Given the description of an element on the screen output the (x, y) to click on. 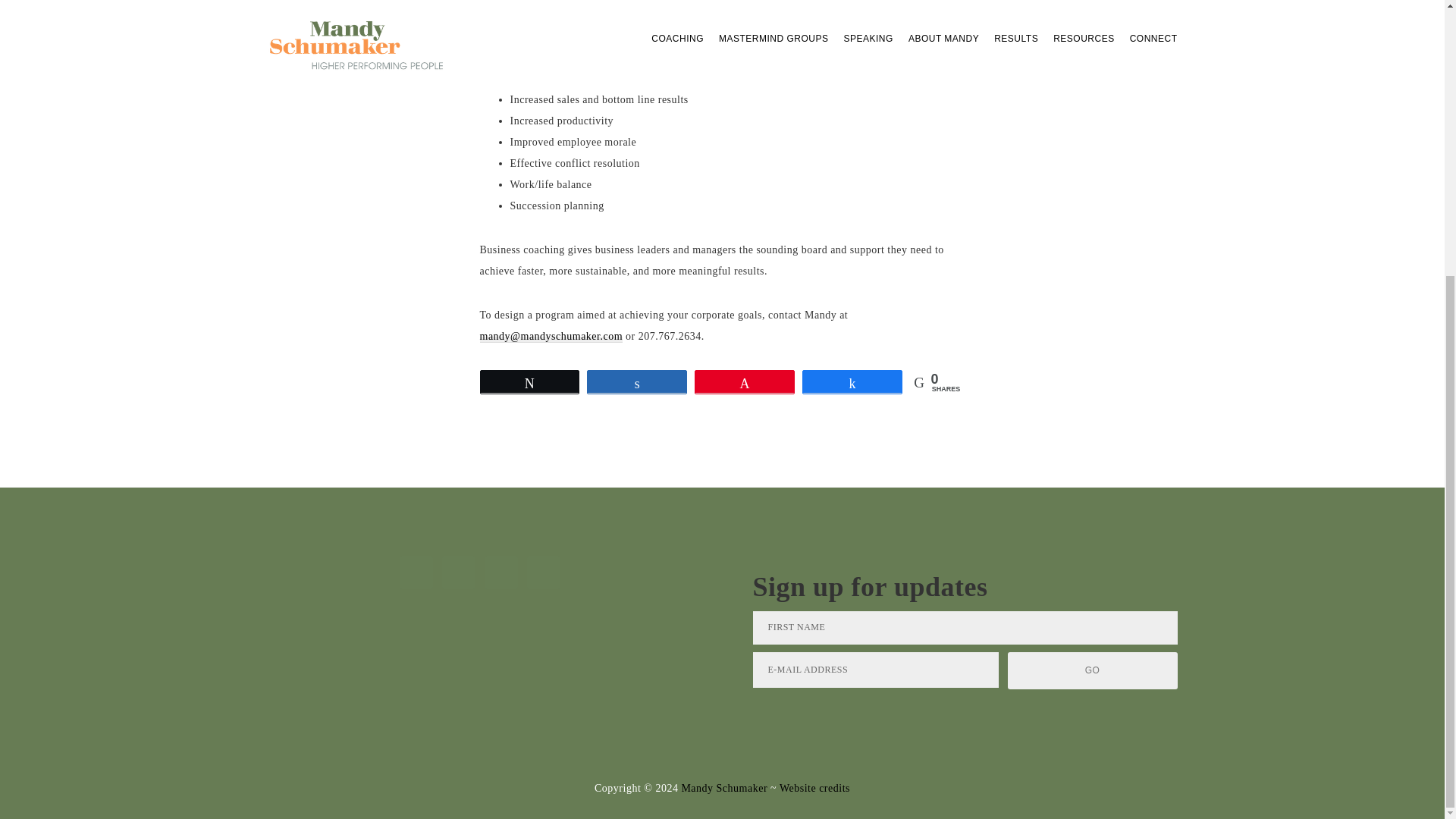
Go (1091, 670)
Website credits (814, 787)
Go (1091, 670)
Mandy Schumaker (724, 787)
